Given the description of an element on the screen output the (x, y) to click on. 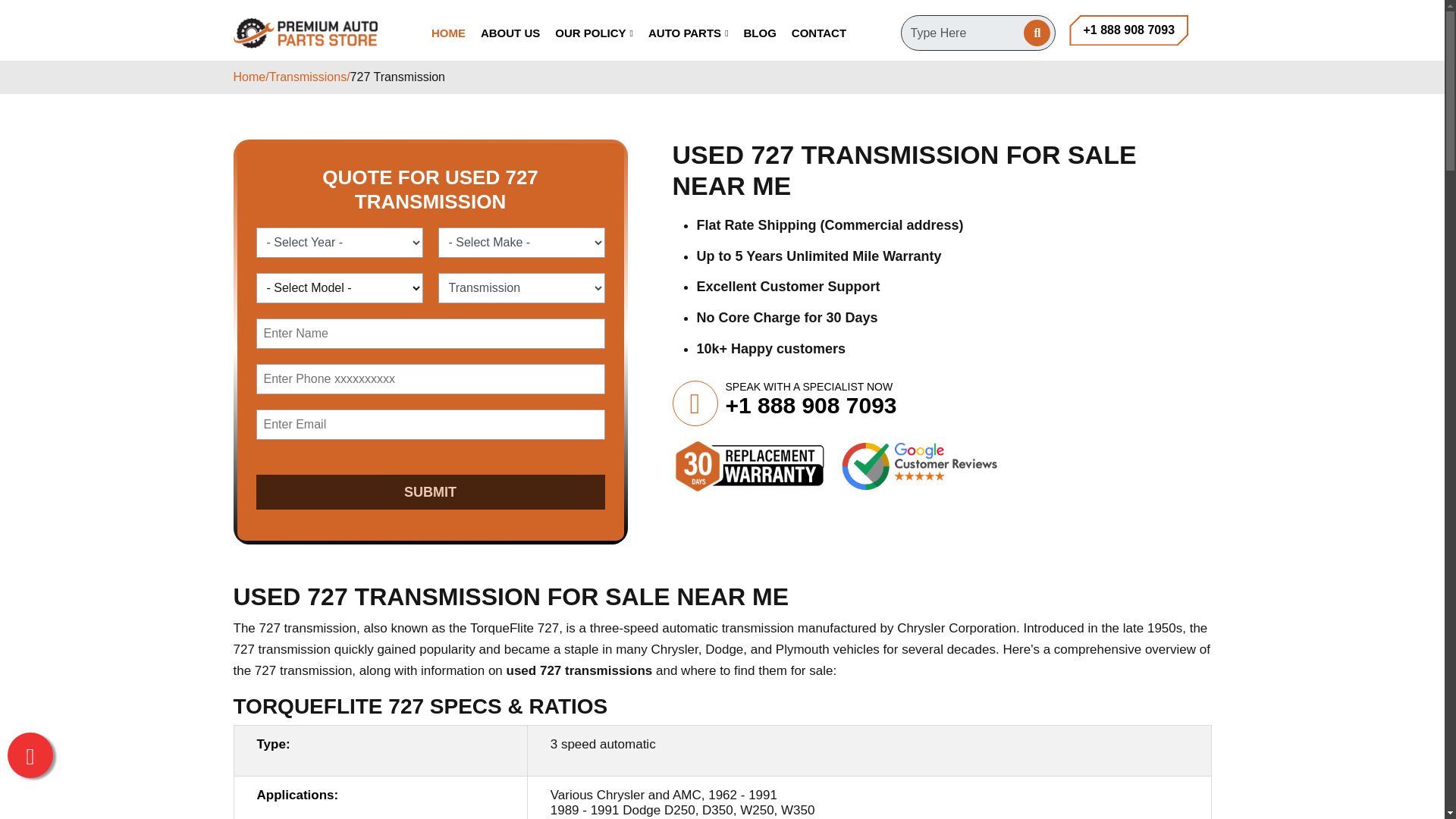
CONTACT (818, 33)
BLOG (760, 33)
No email addresses or URLs allowed (430, 333)
Submit (430, 492)
OUR POLICY (593, 33)
Submit (430, 492)
no email addresses or URLs allowed (430, 378)
HOME (447, 33)
AUTO PARTS (688, 33)
ABOUT US (510, 33)
